Given the description of an element on the screen output the (x, y) to click on. 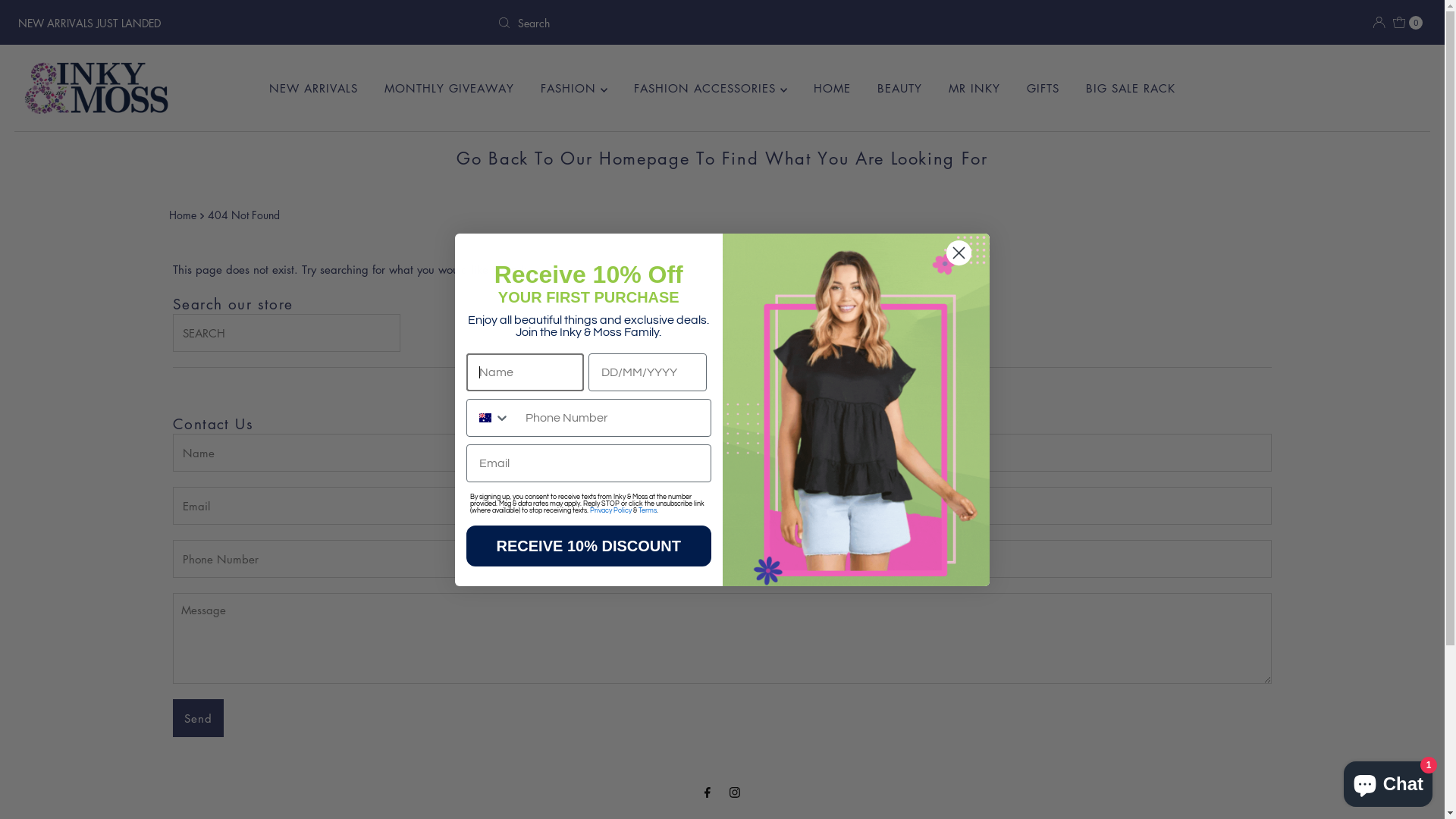
Terms Element type: text (647, 509)
0 Element type: text (1408, 22)
BEAUTY Element type: text (899, 87)
Privacy Policy Element type: text (610, 509)
NEW ARRIVALS Element type: text (313, 87)
Submit Element type: text (30, 18)
Search our store Element type: hover (286, 332)
Search our store Element type: hover (721, 22)
RECEIVE 10% DISCOUNT Element type: text (588, 544)
Home Element type: text (183, 214)
MONTHLY GIVEAWAY Element type: text (449, 87)
BIG SALE RACK Element type: text (1130, 87)
HOME Element type: text (832, 87)
Send Element type: text (197, 718)
MR INKY Element type: text (974, 87)
GIFTS Element type: text (1042, 87)
Australia Element type: hover (485, 417)
Shopify online store chat Element type: hover (1388, 780)
